Given the description of an element on the screen output the (x, y) to click on. 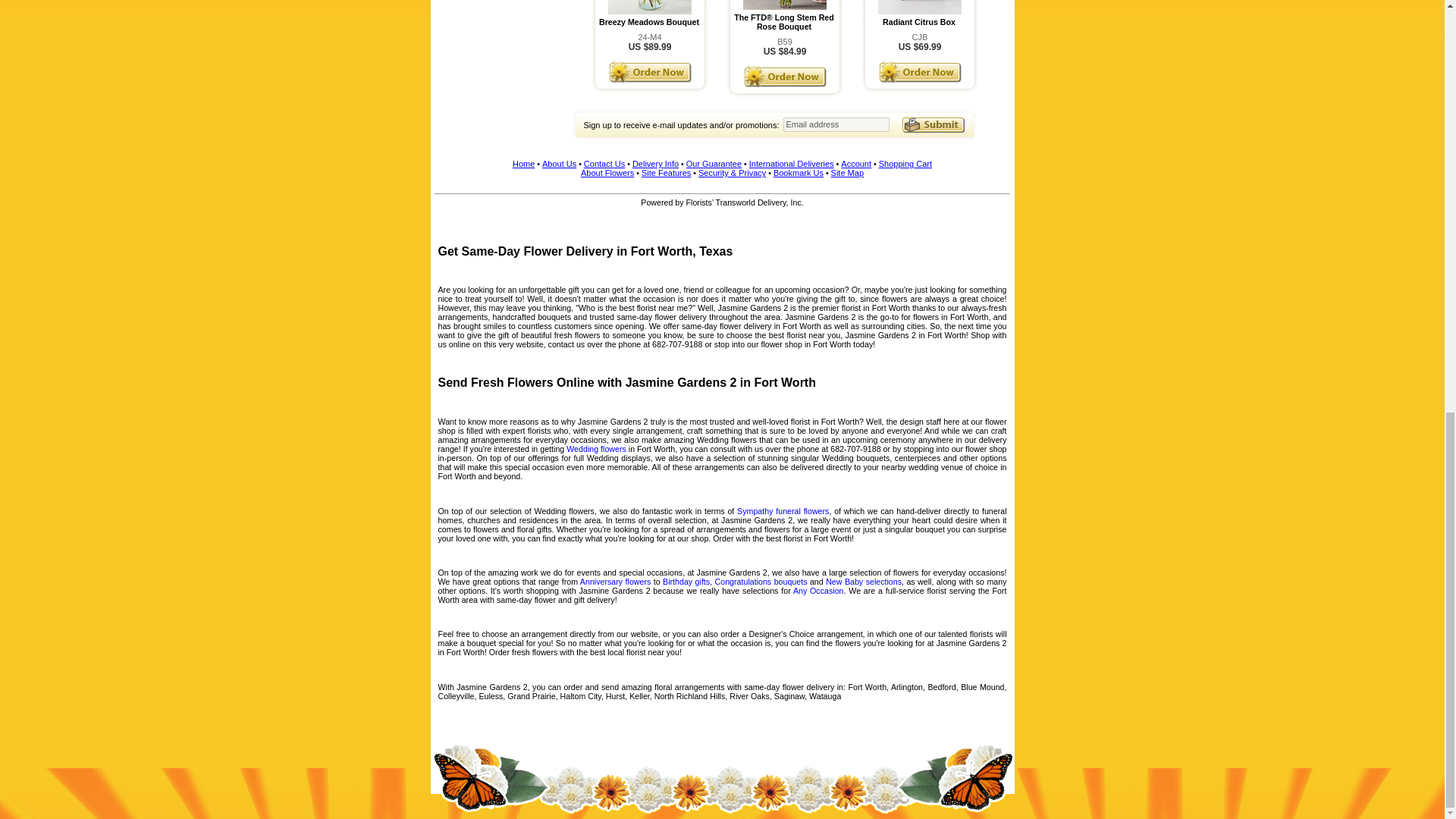
Email address (835, 124)
